Given the description of an element on the screen output the (x, y) to click on. 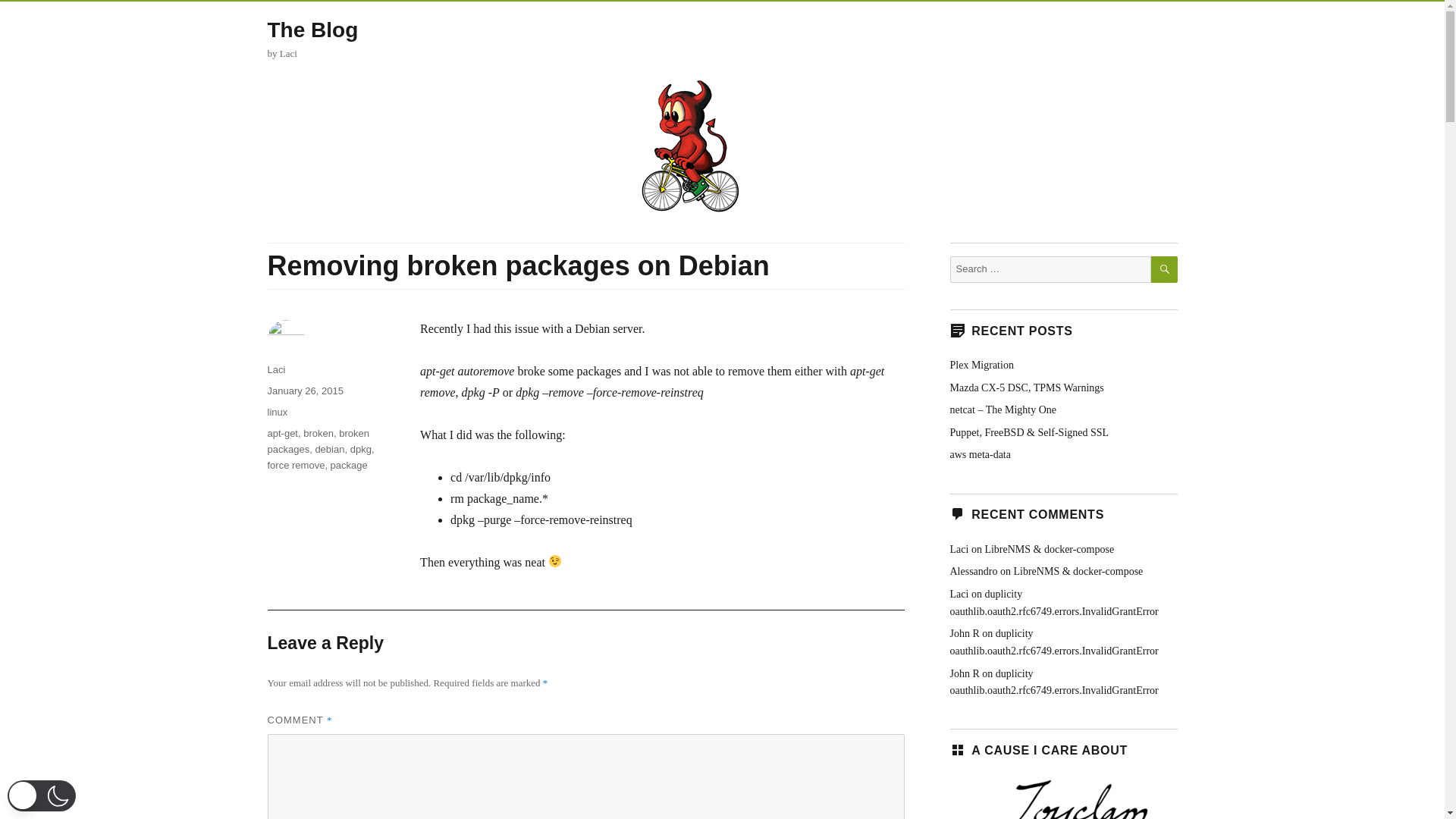
duplicity oauthlib.oauth2.rfc6749.errors.InvalidGrantError (1053, 682)
Search for: (1049, 269)
duplicity oauthlib.oauth2.rfc6749.errors.InvalidGrantError (1053, 602)
apt-get (281, 432)
package (349, 464)
broken (317, 432)
duplicity oauthlib.oauth2.rfc6749.errors.InvalidGrantError (1053, 642)
debian (328, 449)
broken packages (317, 441)
Laci (275, 369)
January 26, 2015 (304, 390)
The Blog (312, 29)
Mazda CX-5 DSC, TPMS Warnings (1026, 387)
aws meta-data (979, 454)
A cause I care about (1062, 796)
